Given the description of an element on the screen output the (x, y) to click on. 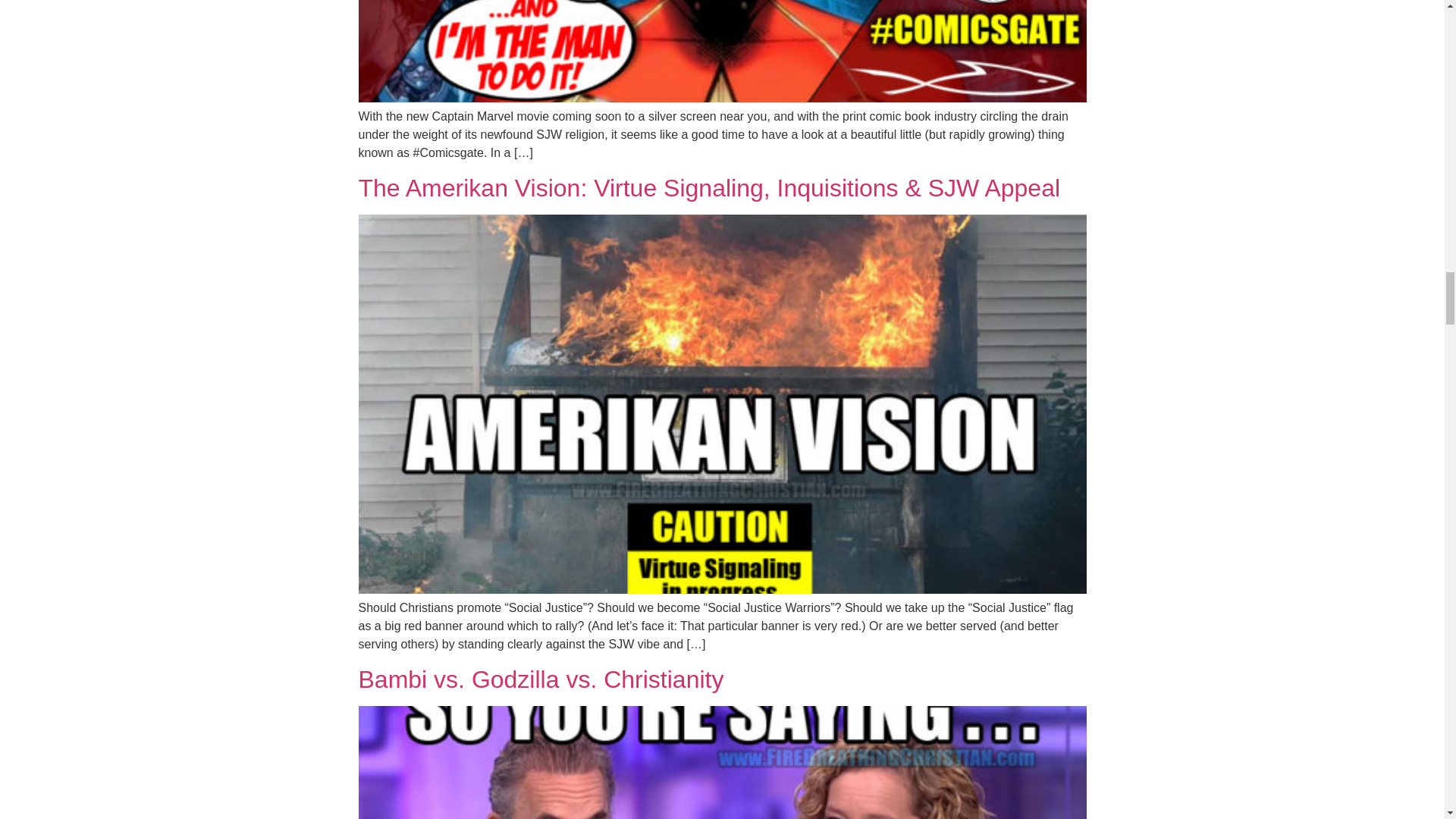
Bambi vs. Godzilla vs. Christianity (540, 678)
